Given the description of an element on the screen output the (x, y) to click on. 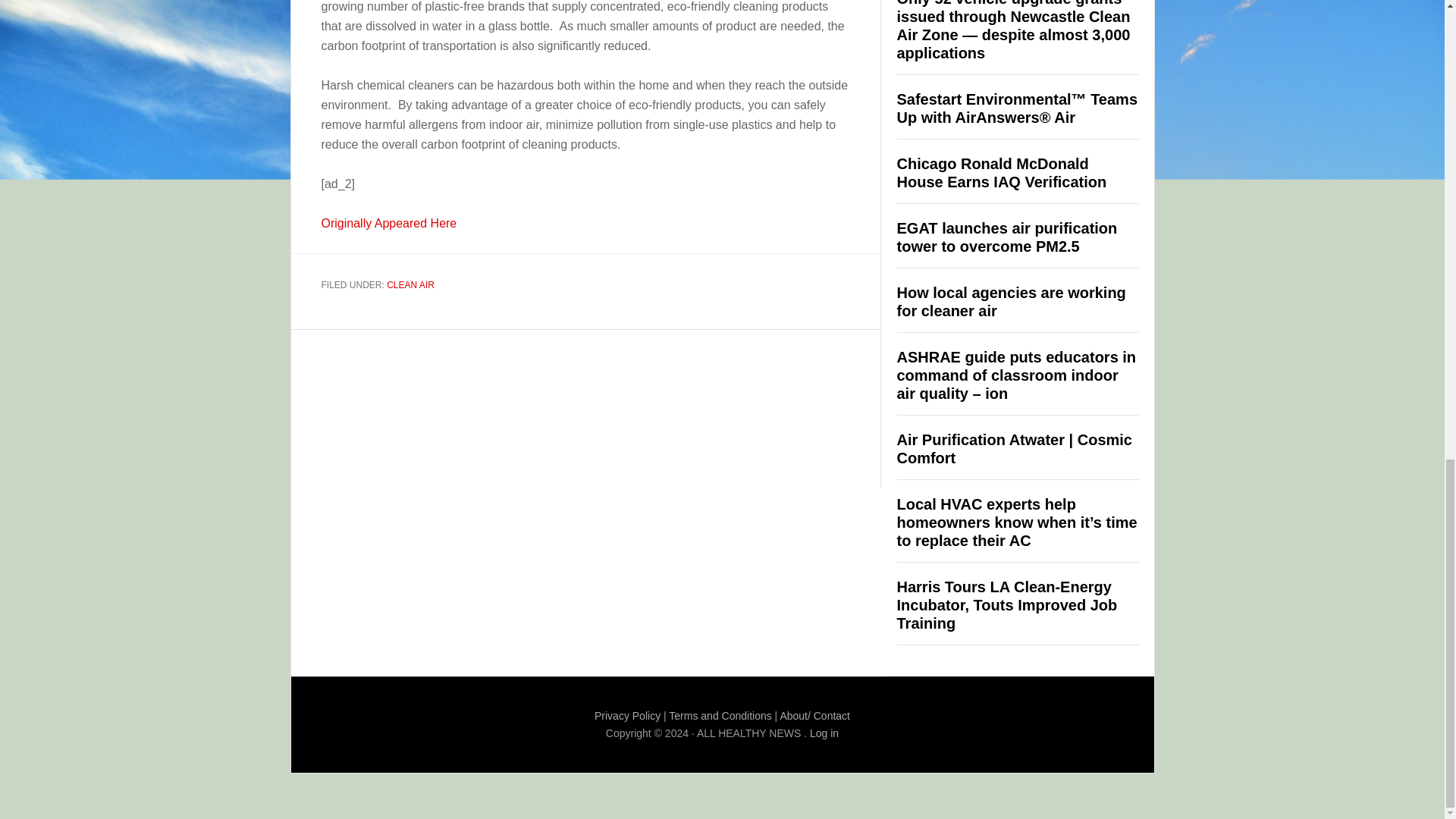
How local agencies are working for cleaner air (1010, 301)
Privacy Policy (627, 715)
Terms and Conditions (719, 715)
Chicago Ronald McDonald House Earns IAQ Verification (1001, 172)
Log in (823, 733)
EGAT launches air purification tower to overcome PM2.5 (1006, 237)
CLEAN AIR (410, 285)
Originally Appeared Here (389, 223)
